Given the description of an element on the screen output the (x, y) to click on. 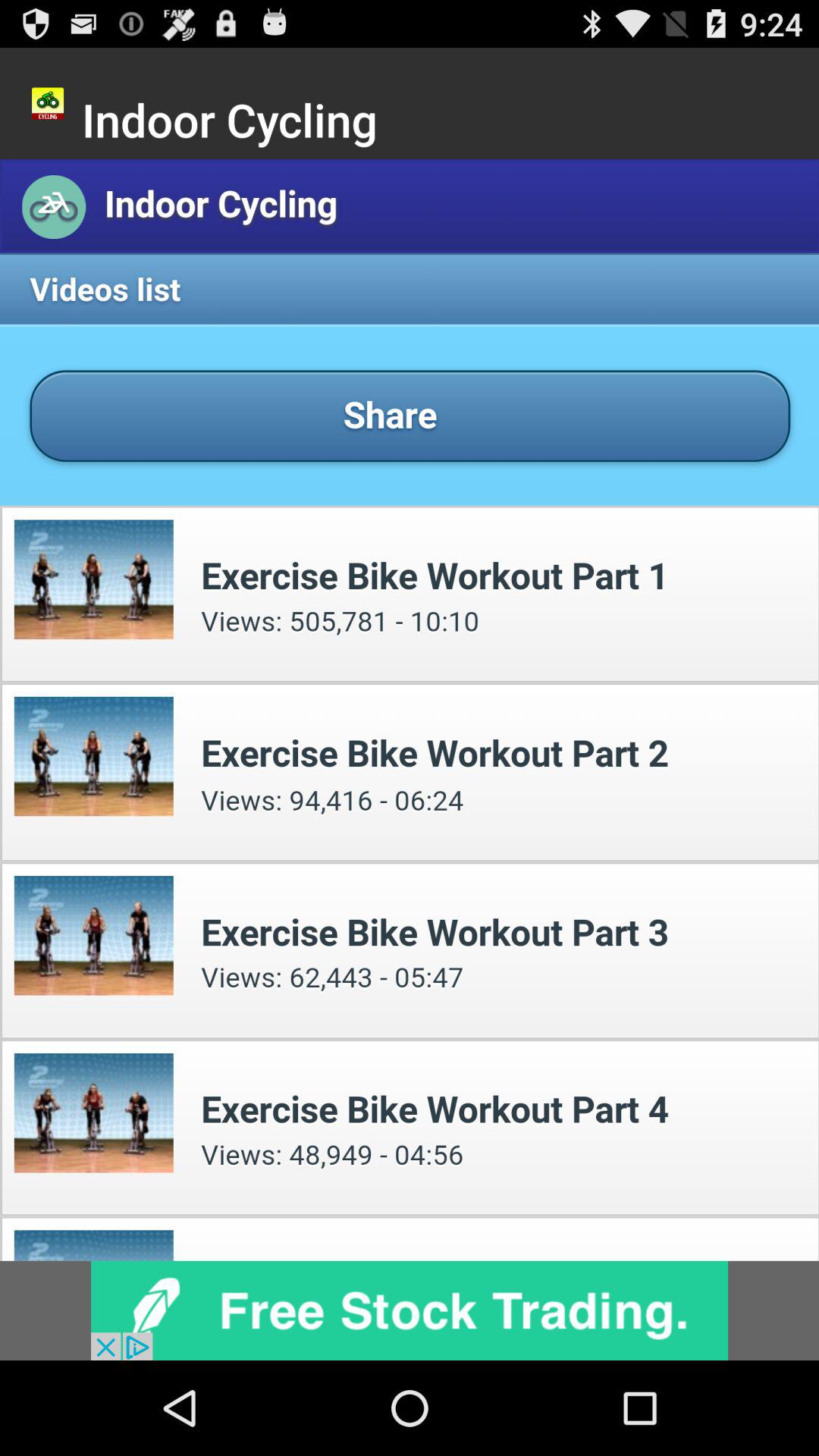
explore indoor cycling details (409, 709)
